Given the description of an element on the screen output the (x, y) to click on. 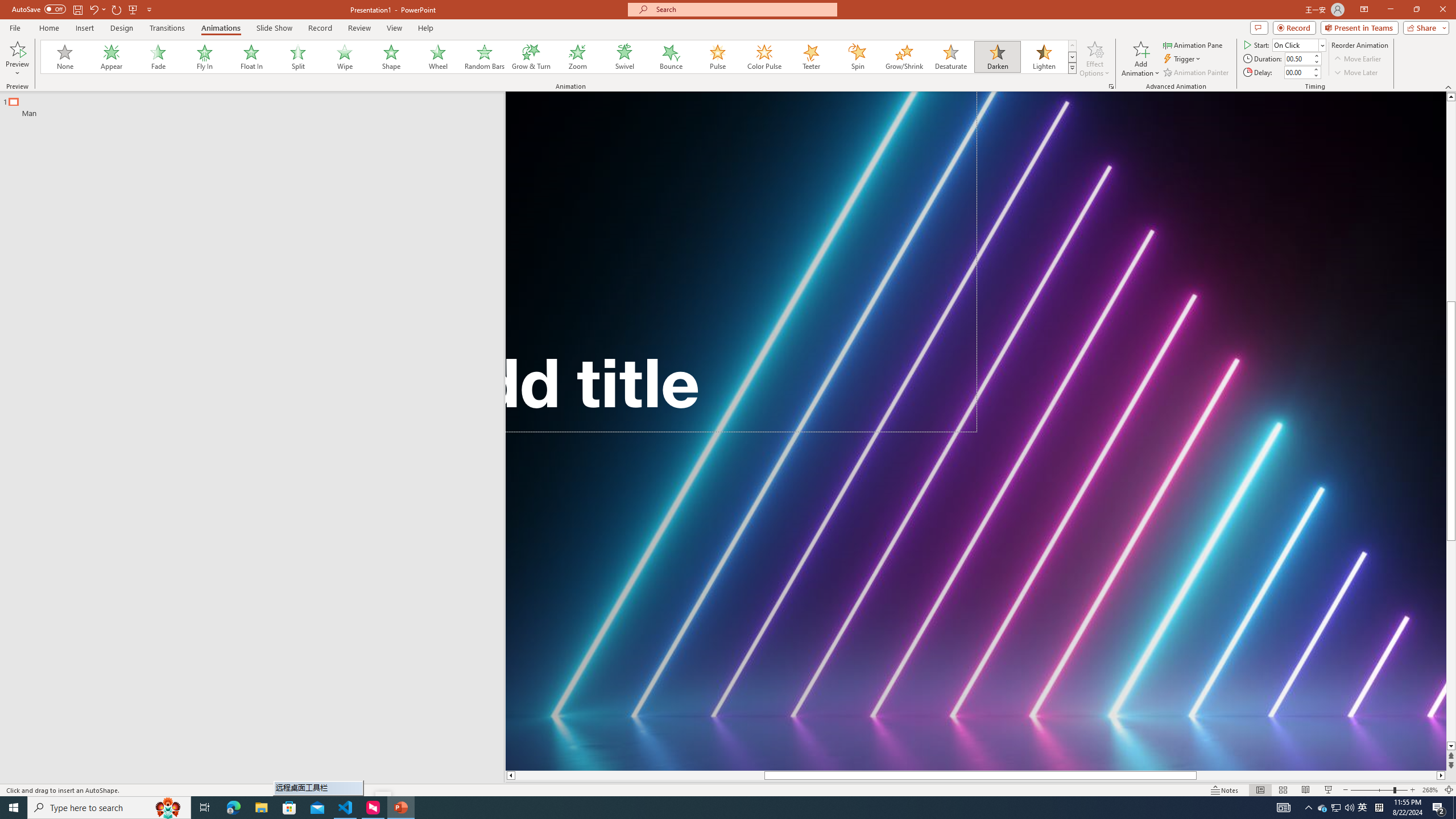
Trigger (1182, 58)
Shape (391, 56)
Random Bars (484, 56)
Move Later (1355, 72)
Add Animation (1141, 58)
